Given the description of an element on the screen output the (x, y) to click on. 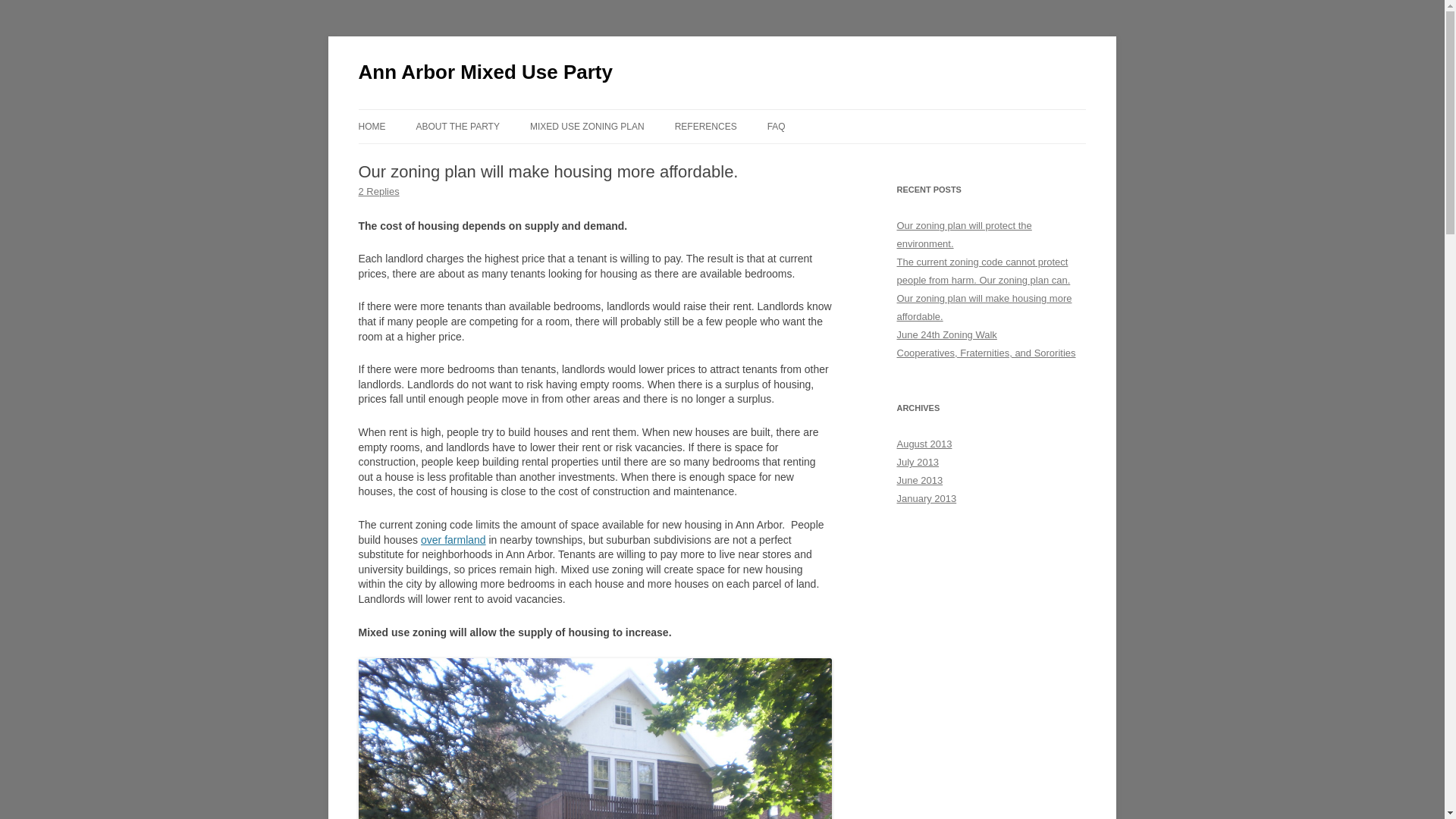
2 Replies (378, 191)
Our zoning plan will protect the environment. (963, 234)
January 2013 (926, 498)
June 24th Zoning Walk (945, 334)
Cooperatives, Fraternities, and Sororities (985, 352)
July 2013 (917, 461)
ABOUT THE PARTY (456, 126)
August 2013 (924, 443)
Skip to content (757, 113)
over farmland (453, 539)
MIXED USE ZONING PLAN (587, 126)
Ann Arbor Mixed Use Party (484, 72)
June 24th Zoning Walk (945, 334)
Our zoning plan will make housing more affordable. (983, 307)
Our zoning plan will make housing more affordable. (983, 307)
